Given the description of an element on the screen output the (x, y) to click on. 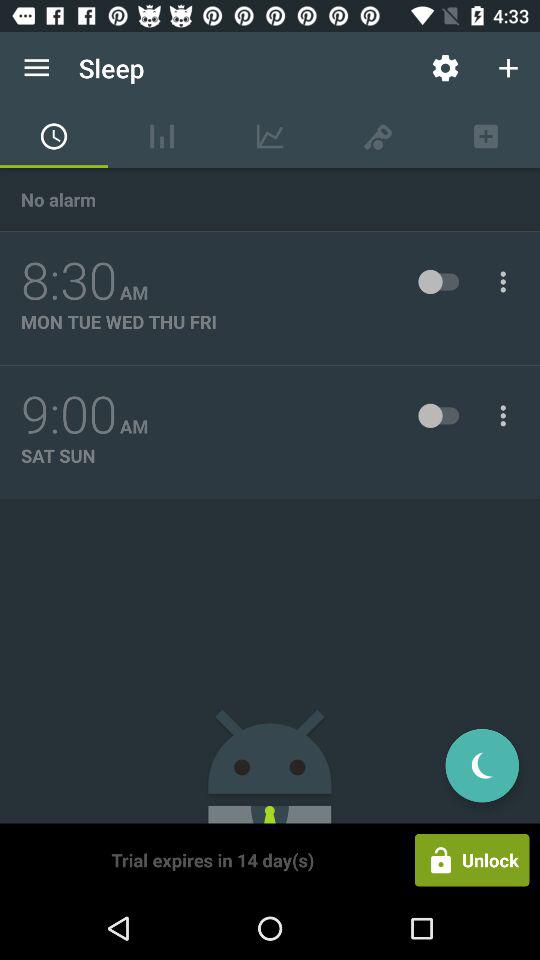
select icon next to am (69, 415)
